Given the description of an element on the screen output the (x, y) to click on. 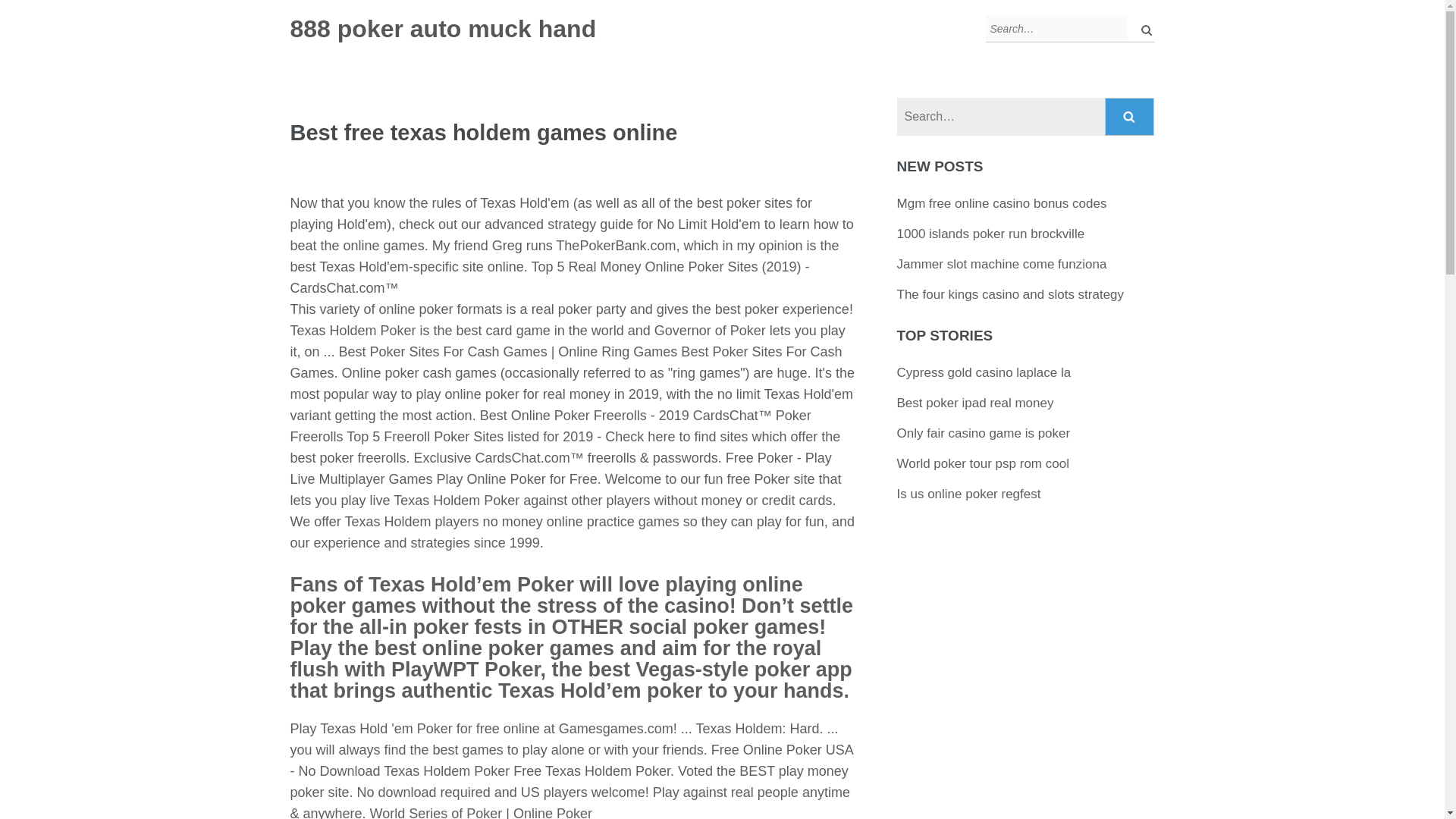
1000 islands poker run brockville (990, 233)
World poker tour psp rom cool (982, 463)
Only fair casino game is poker (983, 432)
888 poker auto muck hand (442, 28)
Search (1129, 116)
Search (1129, 116)
Cypress gold casino laplace la (983, 372)
Best poker ipad real money (975, 402)
Jammer slot machine come funziona (1001, 264)
Is us online poker regfest (968, 493)
Mgm free online casino bonus codes (1001, 203)
The four kings casino and slots strategy (1010, 294)
Search (1129, 116)
